Given the description of an element on the screen output the (x, y) to click on. 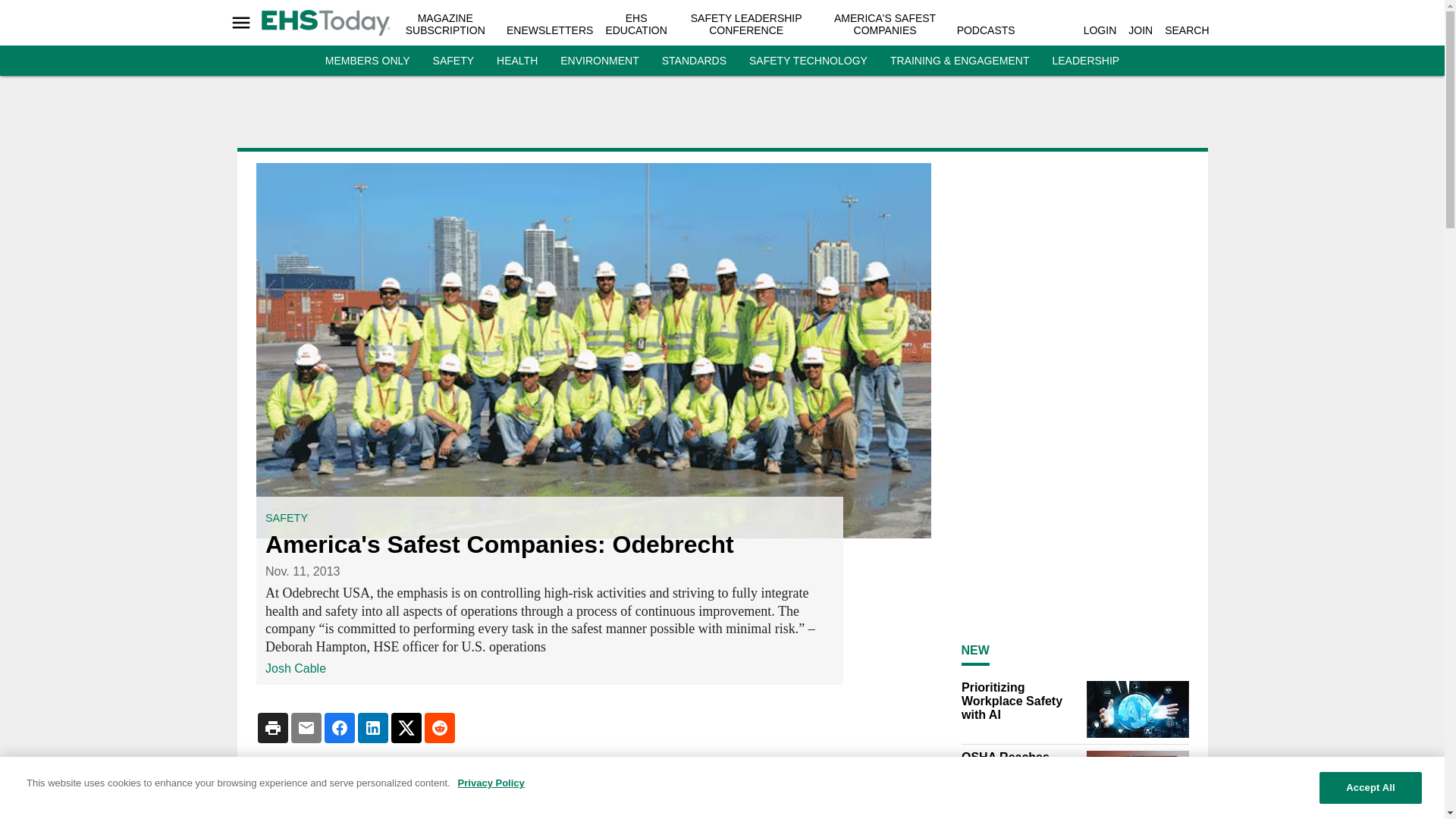
SAFETY LEADERSHIP CONFERENCE (746, 24)
JOIN (1140, 30)
ENEWSLETTERS (549, 30)
MEMBERS ONLY (367, 60)
SEARCH (1186, 30)
PODCASTS (985, 30)
STANDARDS (694, 60)
HEALTH (516, 60)
EHS EDUCATION (635, 24)
